Given the description of an element on the screen output the (x, y) to click on. 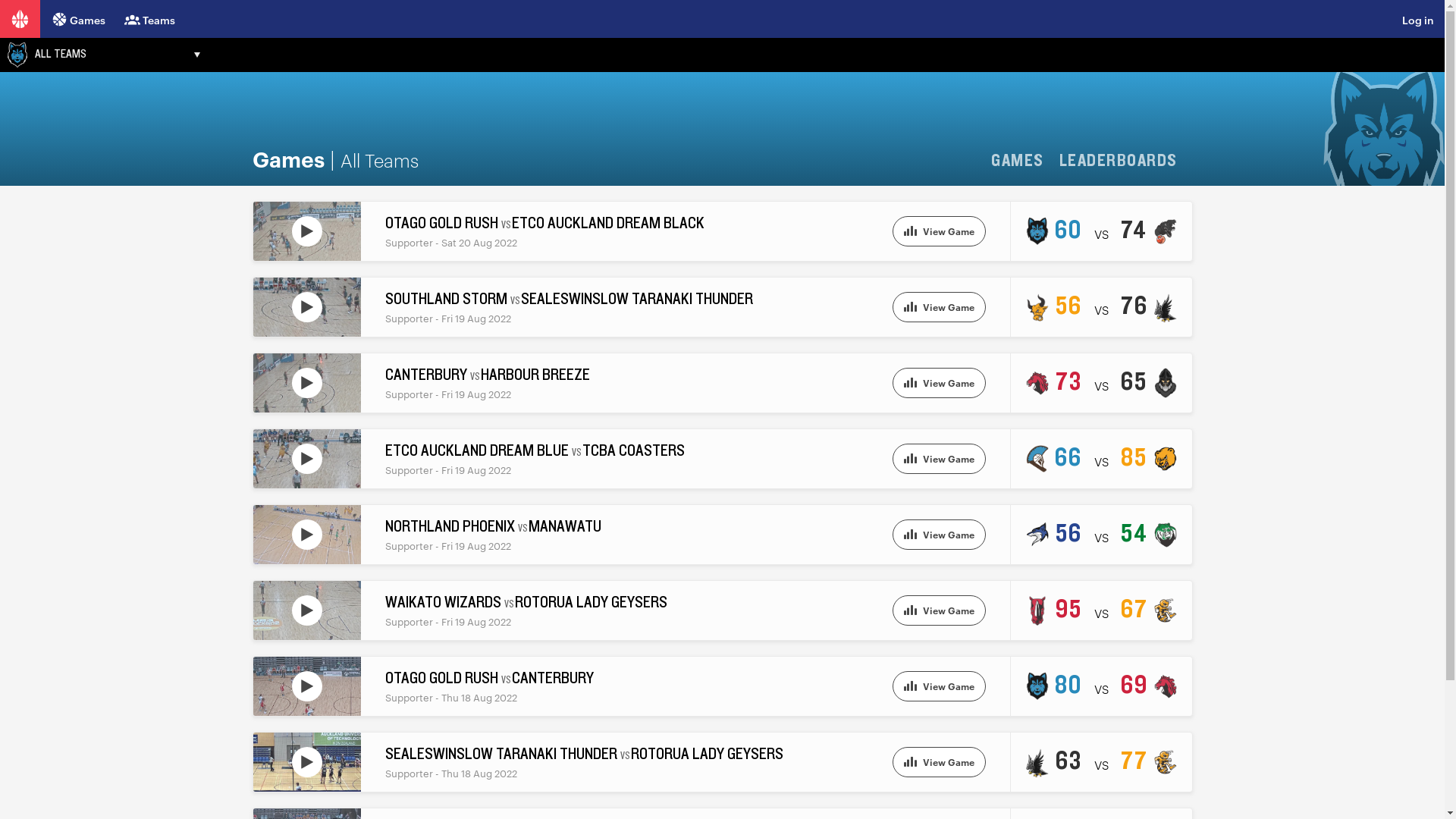
Teams Element type: text (140, 18)
GAMES Element type: text (1022, 160)
LEADERBOARDS Element type: text (1123, 160)
Games Element type: text (75, 18)
Log in Element type: text (1431, 18)
